Given the description of an element on the screen output the (x, y) to click on. 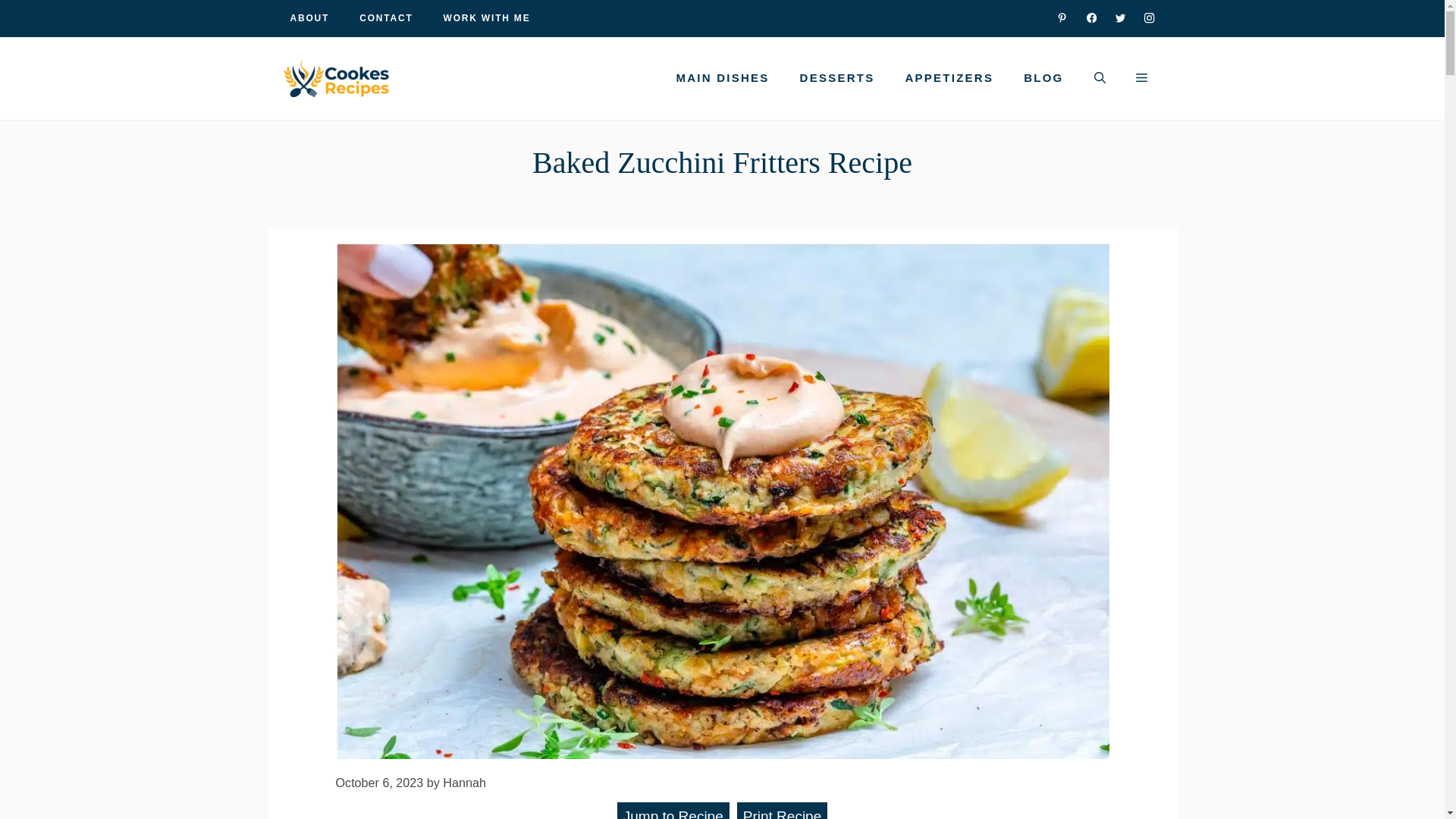
Print Recipe (782, 810)
View all posts by Hannah (464, 782)
WORK WITH ME (487, 18)
BLOG (1043, 77)
Hannah (464, 782)
Jump to Recipe (673, 810)
MAIN DISHES (722, 77)
APPETIZERS (949, 77)
DESSERTS (836, 77)
ABOUT (309, 18)
CONTACT (385, 18)
